Given the description of an element on the screen output the (x, y) to click on. 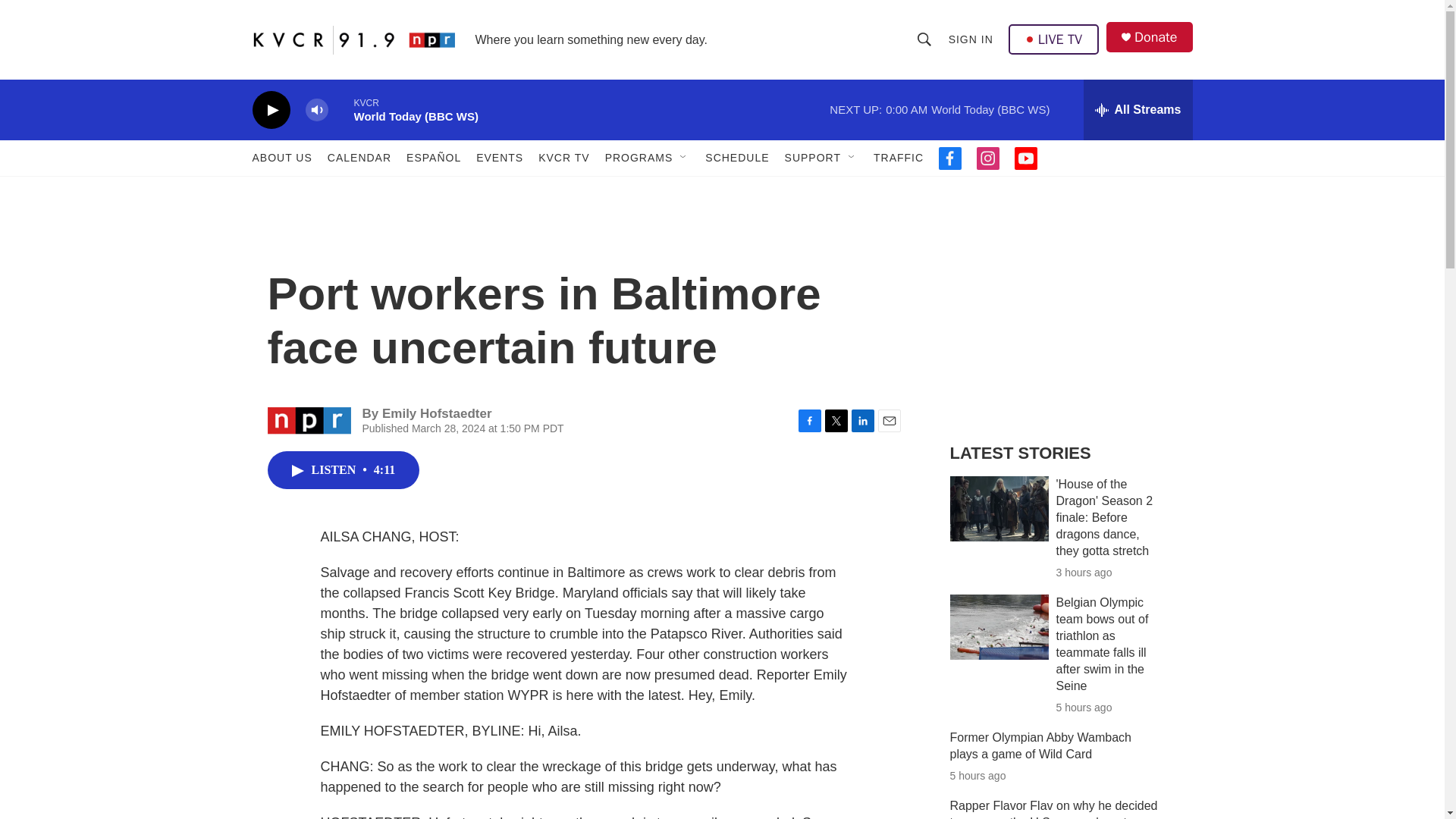
3rd party ad content (1062, 316)
